Given the description of an element on the screen output the (x, y) to click on. 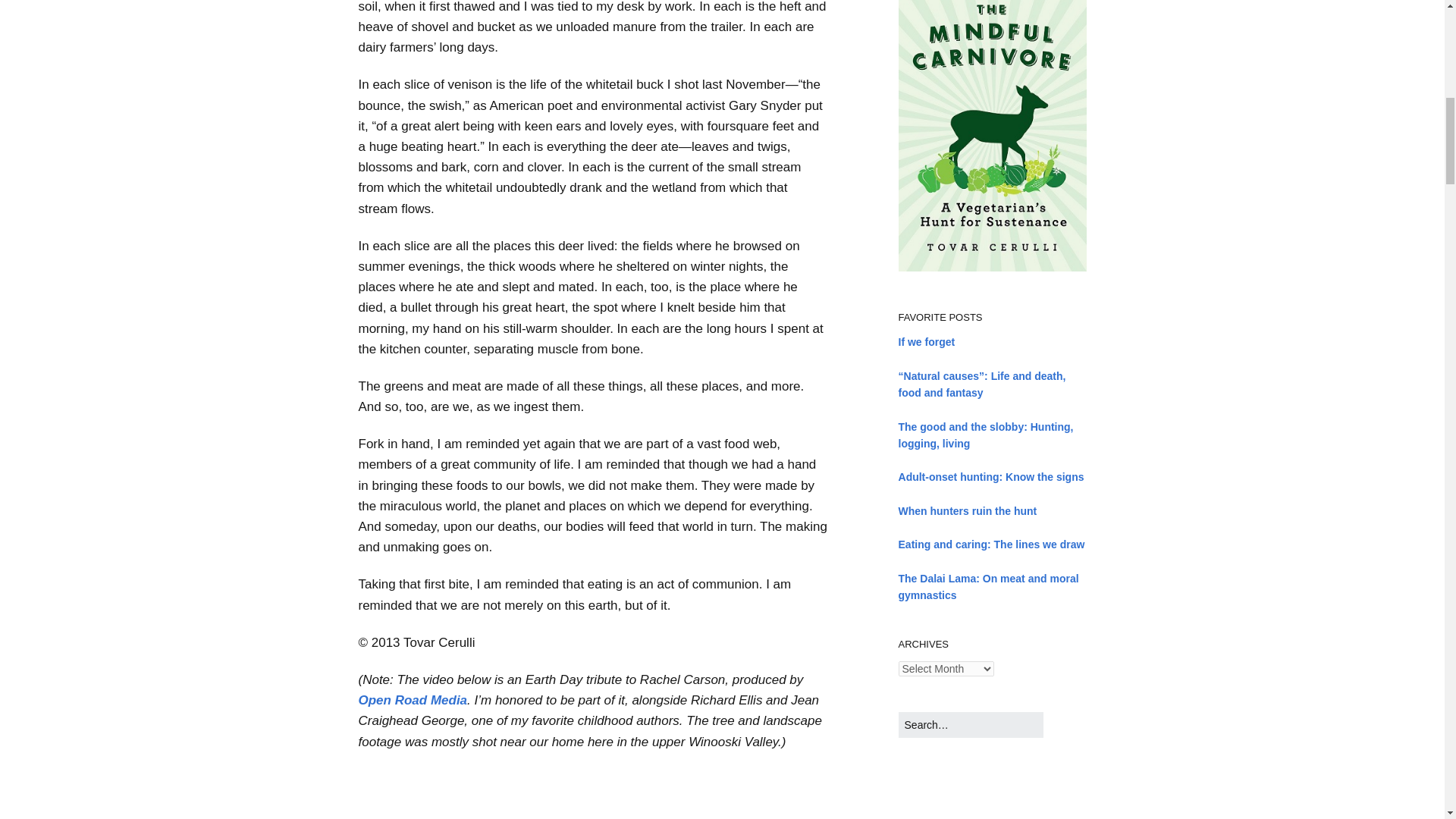
Press Enter to submit your search (970, 724)
Open Road Media (412, 699)
